Given the description of an element on the screen output the (x, y) to click on. 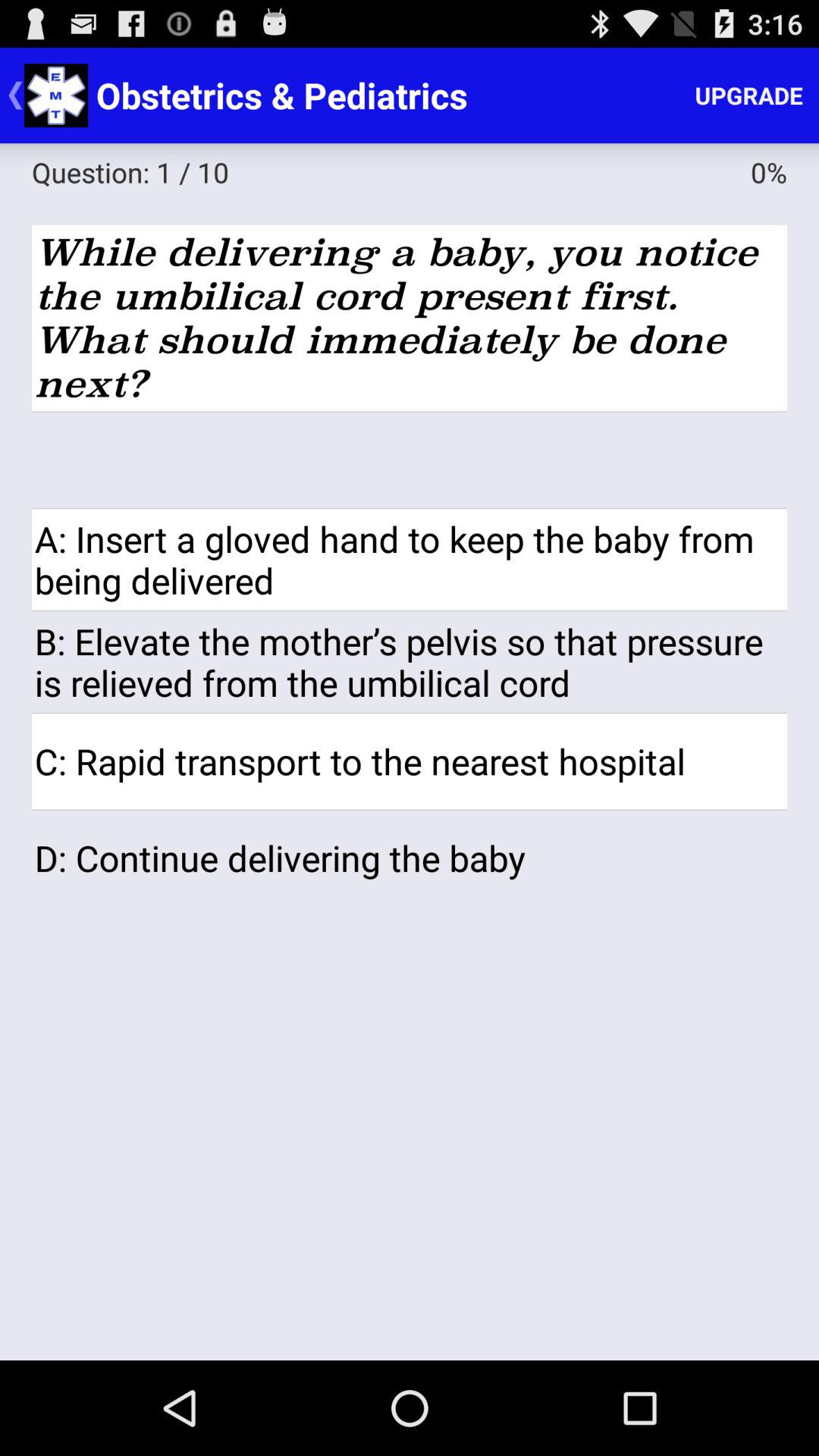
launch app below b elevate the app (409, 761)
